Given the description of an element on the screen output the (x, y) to click on. 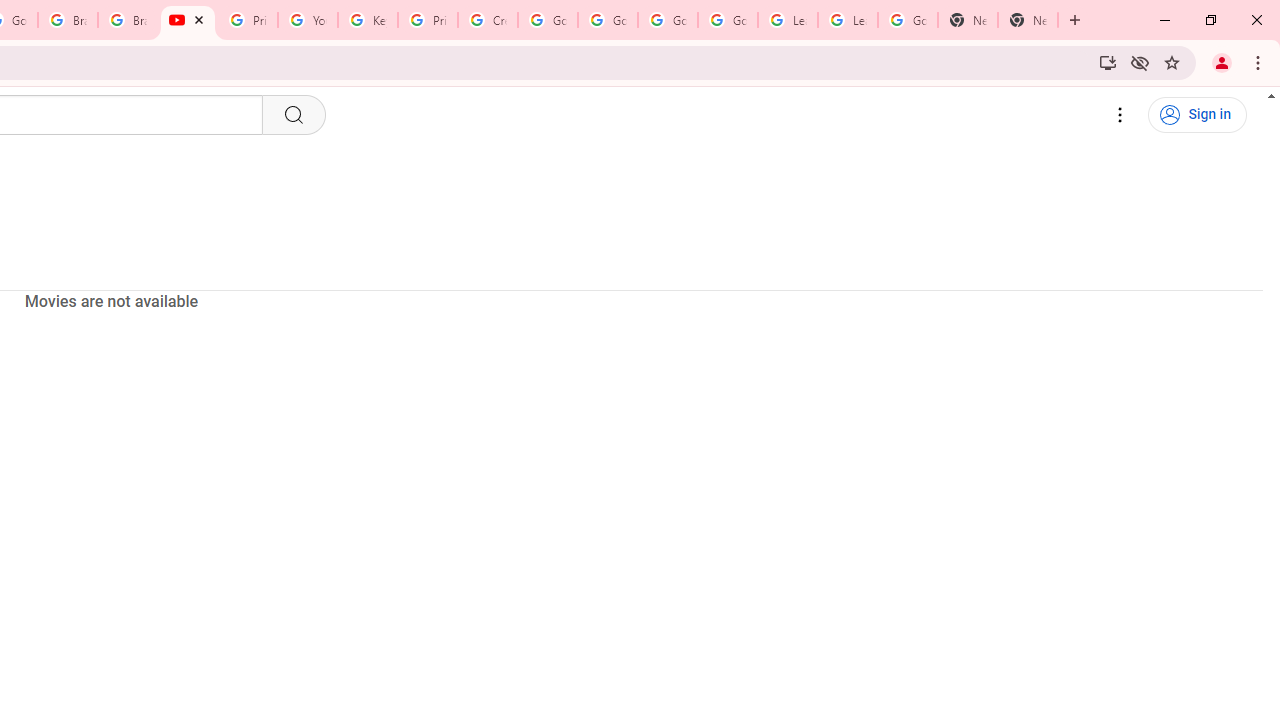
Install YouTube (1107, 62)
Google Account Help (548, 20)
Google Account Help (667, 20)
Google Account Help (607, 20)
New Tab (968, 20)
YouTube (307, 20)
